Given the description of an element on the screen output the (x, y) to click on. 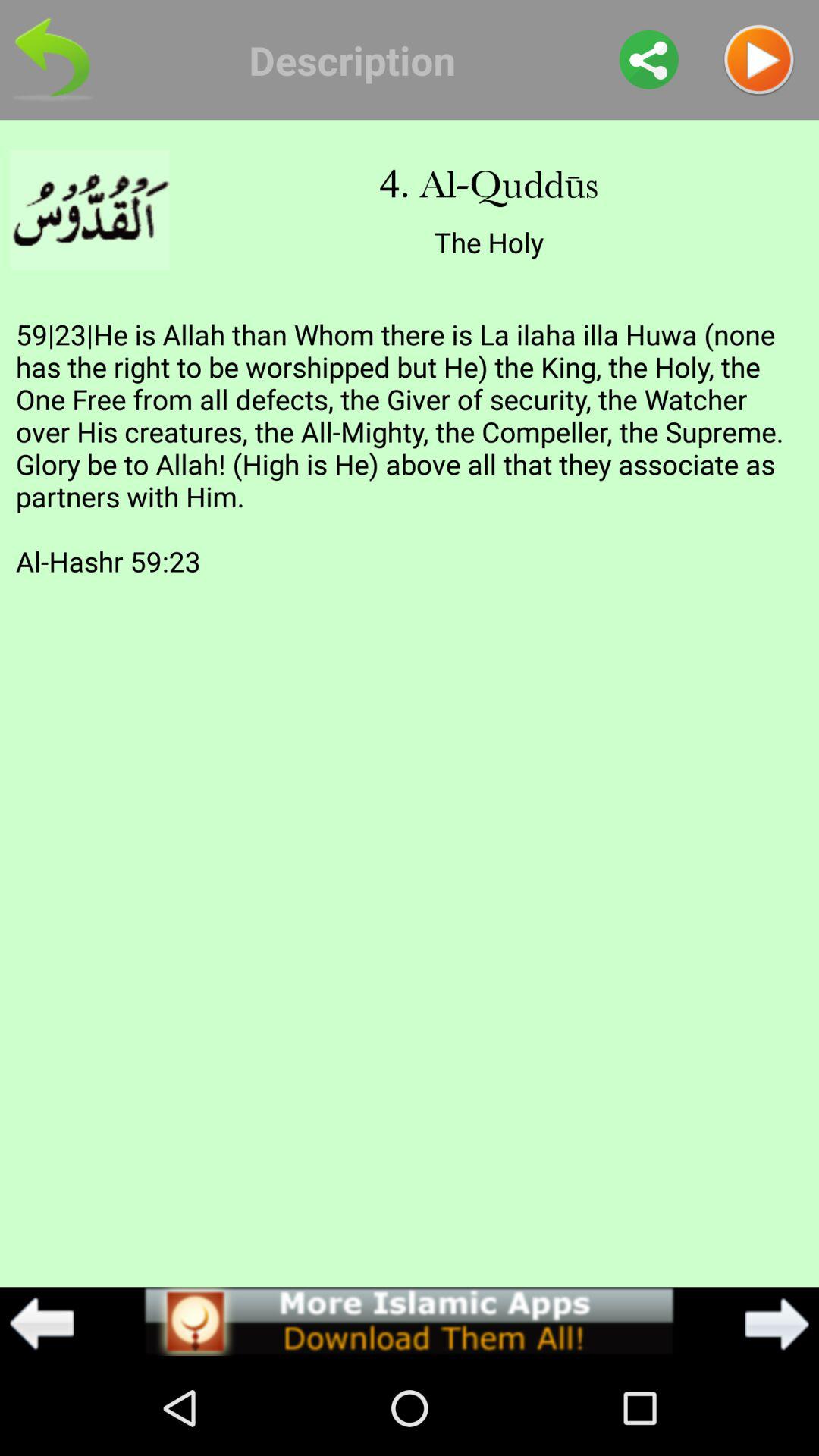
press the icon below 59 23 he (41, 1323)
